Given the description of an element on the screen output the (x, y) to click on. 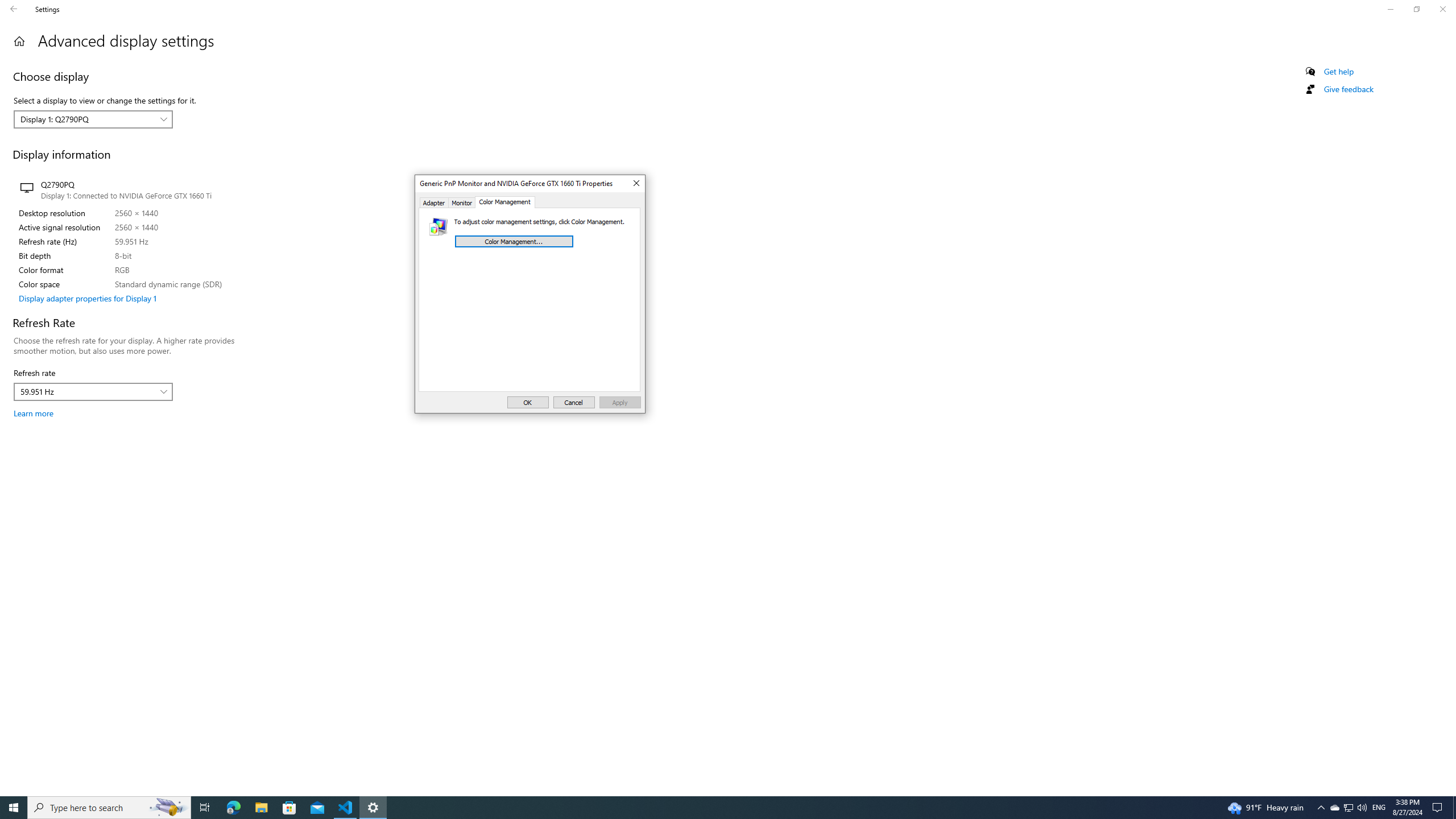
Cancel (574, 401)
Search highlights icon opens search home window (167, 807)
Task View (204, 807)
Visual Studio Code - 1 running window (1333, 807)
Start (345, 807)
Notification Chevron (13, 807)
Close (1320, 807)
Microsoft Edge (635, 183)
Apply (233, 807)
Q2790: 100% (620, 401)
User Promoted Notification Area (1361, 807)
